Given the description of an element on the screen output the (x, y) to click on. 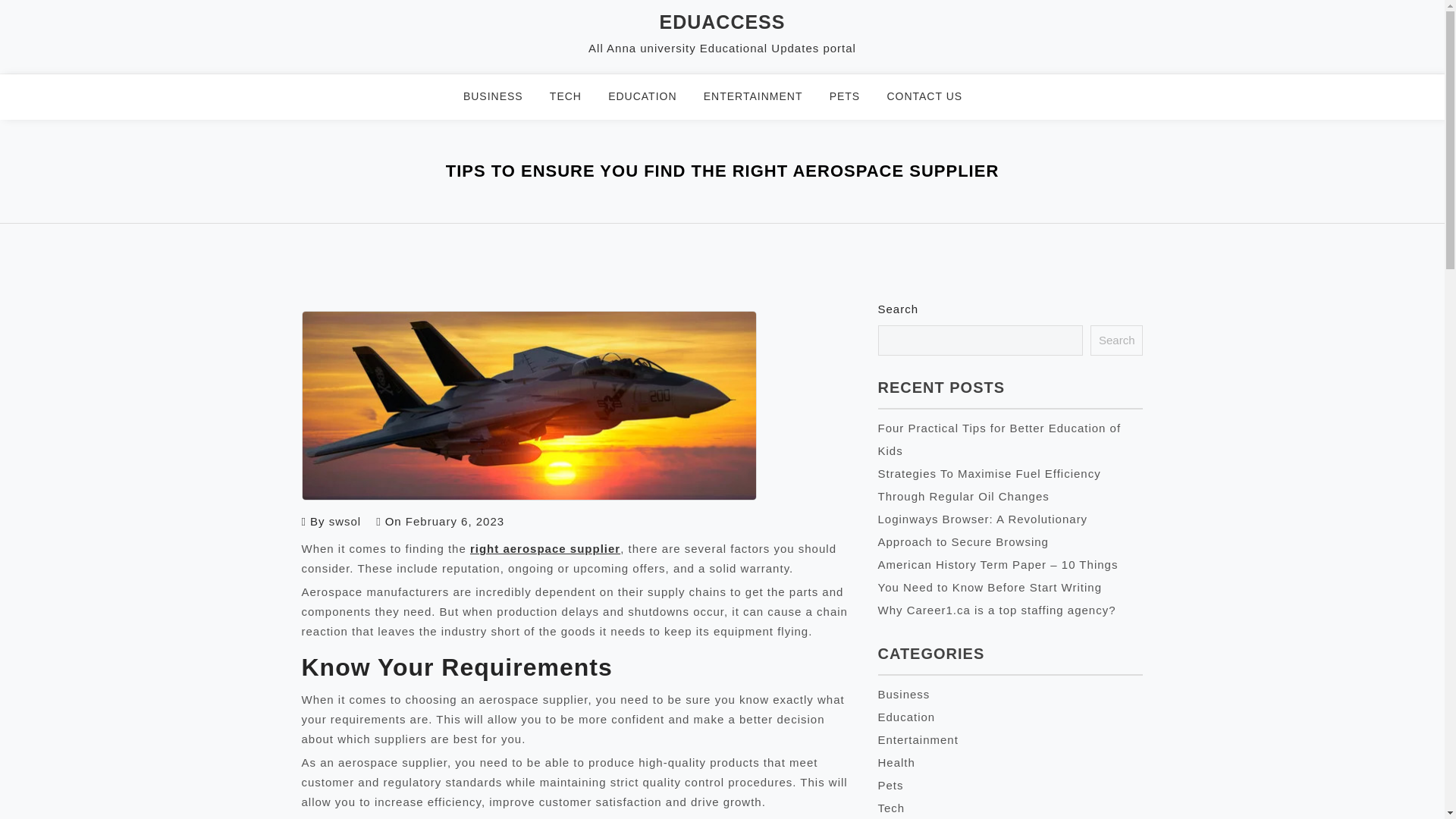
Four Practical Tips for Better Education of Kids (999, 439)
Pets (890, 784)
Tech (891, 807)
Health (896, 762)
TECH (574, 96)
EDUACCESS (722, 21)
Business (903, 694)
BUSINESS (502, 96)
ENTERTAINMENT (762, 96)
right aerospace supplier (545, 548)
PETS (854, 96)
Why Career1.ca is a top staffing agency? (996, 609)
February 6, 2023 (454, 521)
